Given the description of an element on the screen output the (x, y) to click on. 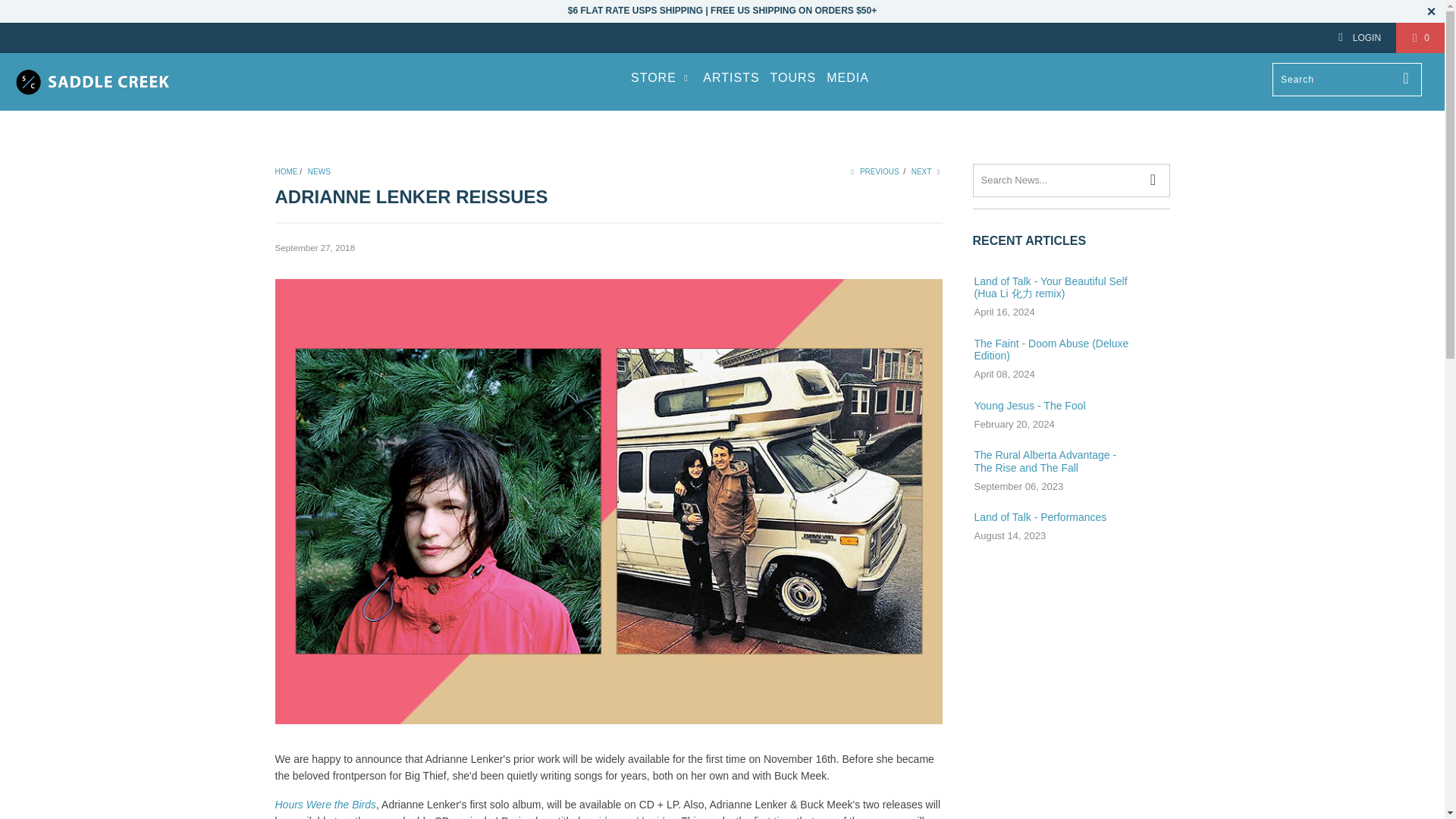
Saddle Creek (122, 81)
News (318, 171)
My Account  (1358, 37)
Adrianne Lenker - Hours Were the Birds (325, 804)
Saddle Creek (286, 171)
